Given the description of an element on the screen output the (x, y) to click on. 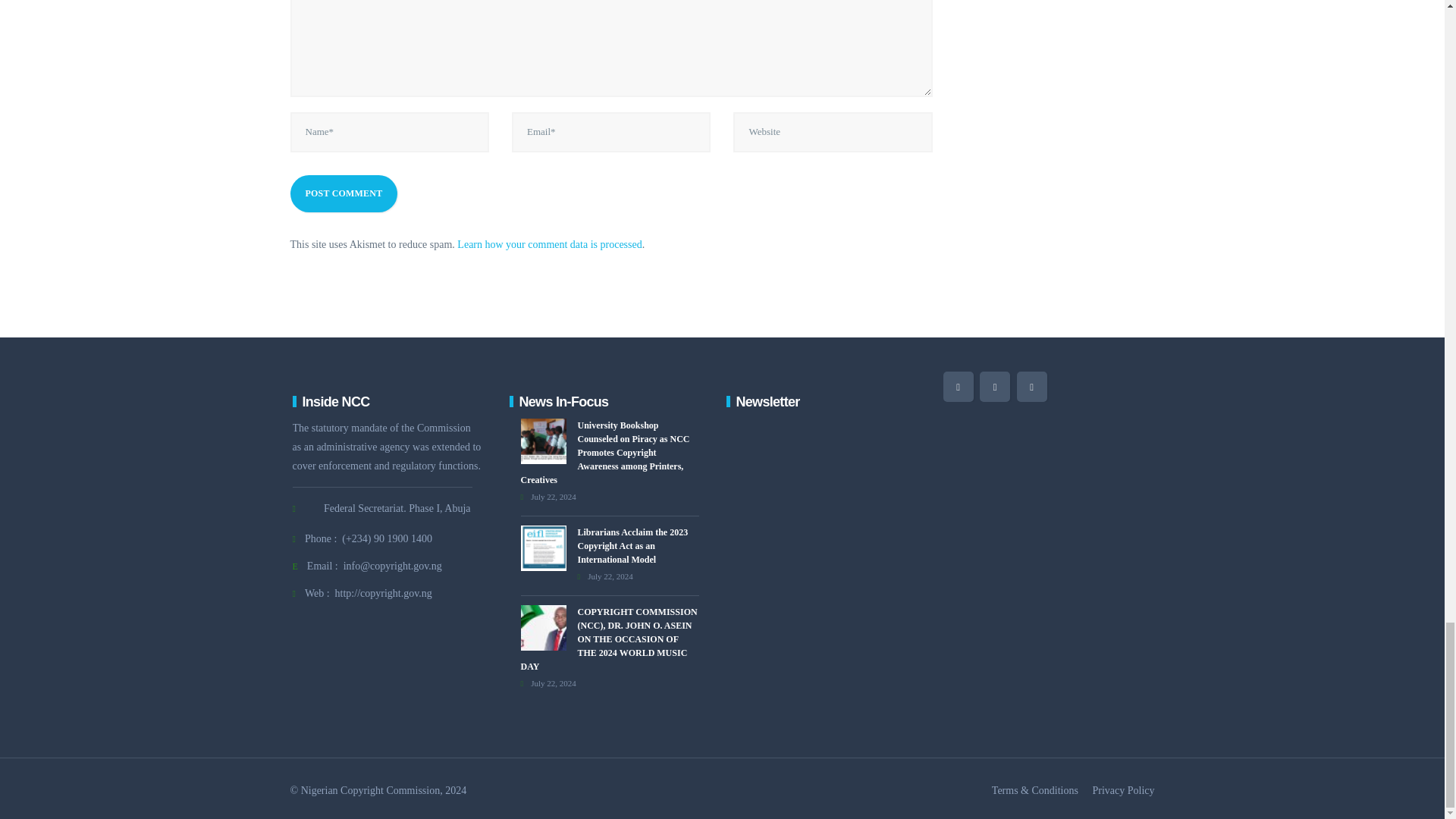
Follow Us on Instagram (1031, 386)
Follow Us on Twitter (958, 386)
Follow Us on Facebook (994, 386)
Post Comment (343, 193)
